Given the description of an element on the screen output the (x, y) to click on. 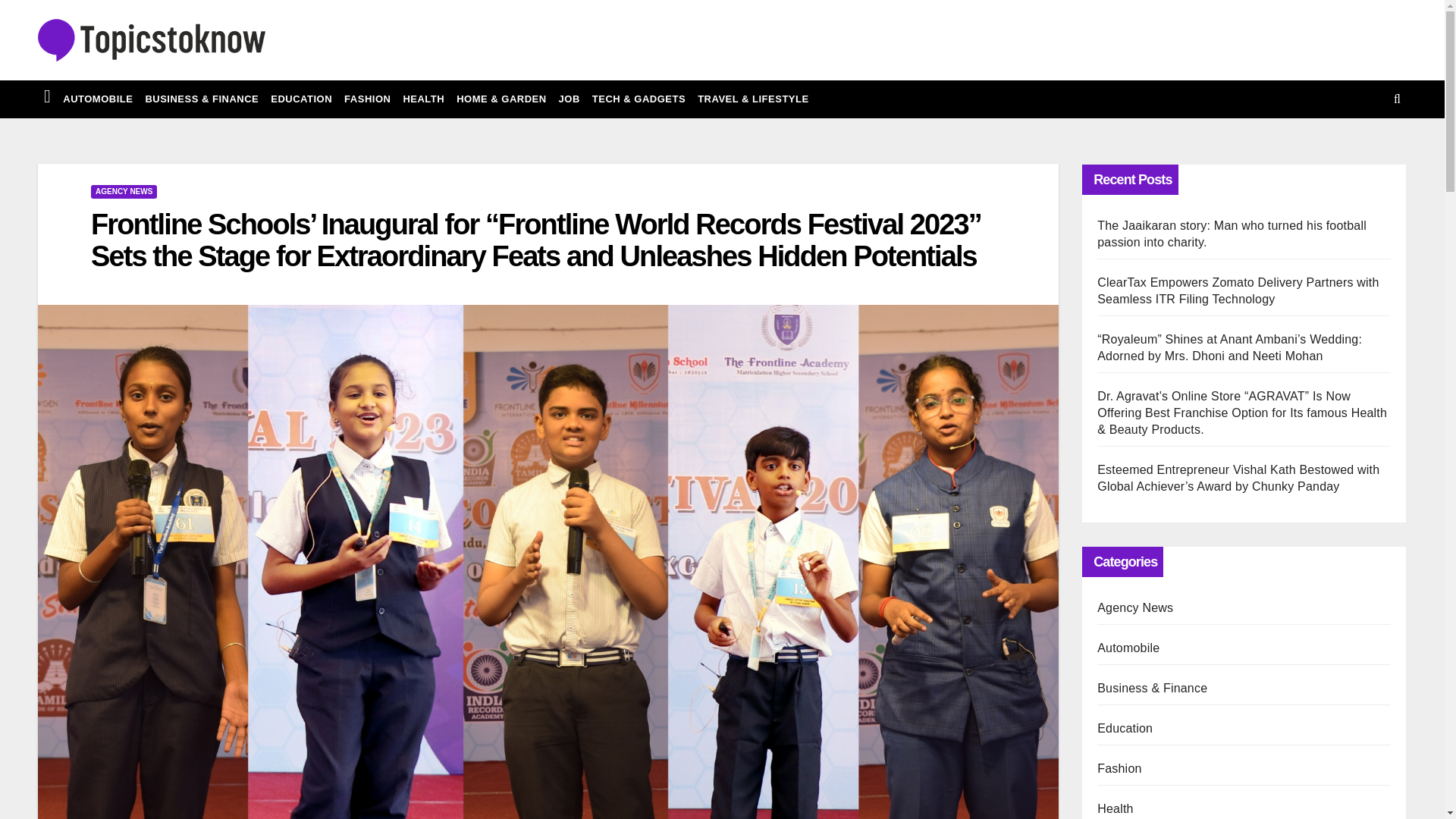
AUTOMOBILE (97, 98)
Education (300, 98)
Health (422, 98)
Fashion (366, 98)
EDUCATION (300, 98)
AGENCY NEWS (123, 192)
Automobile (97, 98)
HEALTH (422, 98)
FASHION (366, 98)
